Given the description of an element on the screen output the (x, y) to click on. 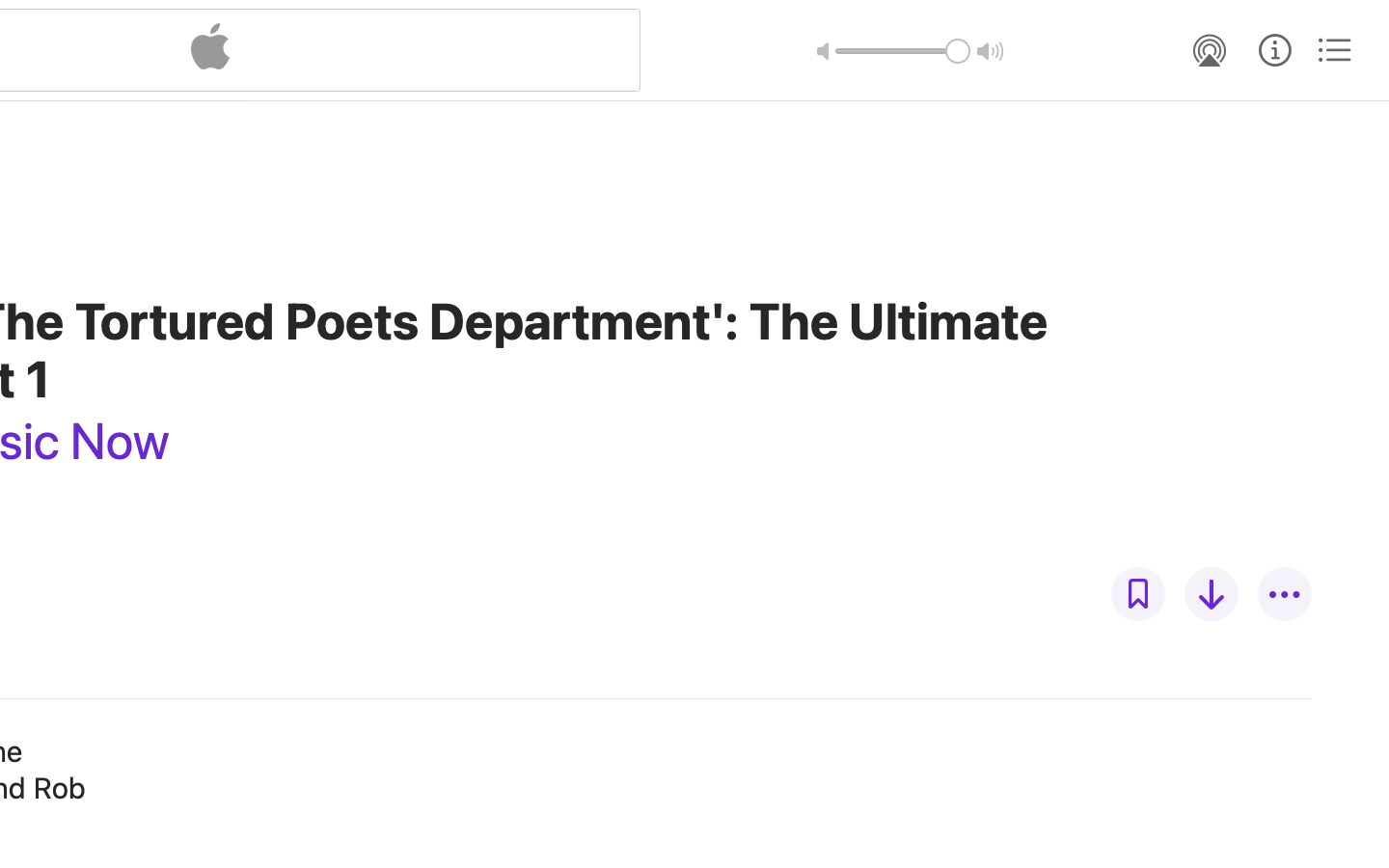
Off Element type: AXButton (1138, 594)
1.0 Element type: AXSlider (902, 50)
